Given the description of an element on the screen output the (x, y) to click on. 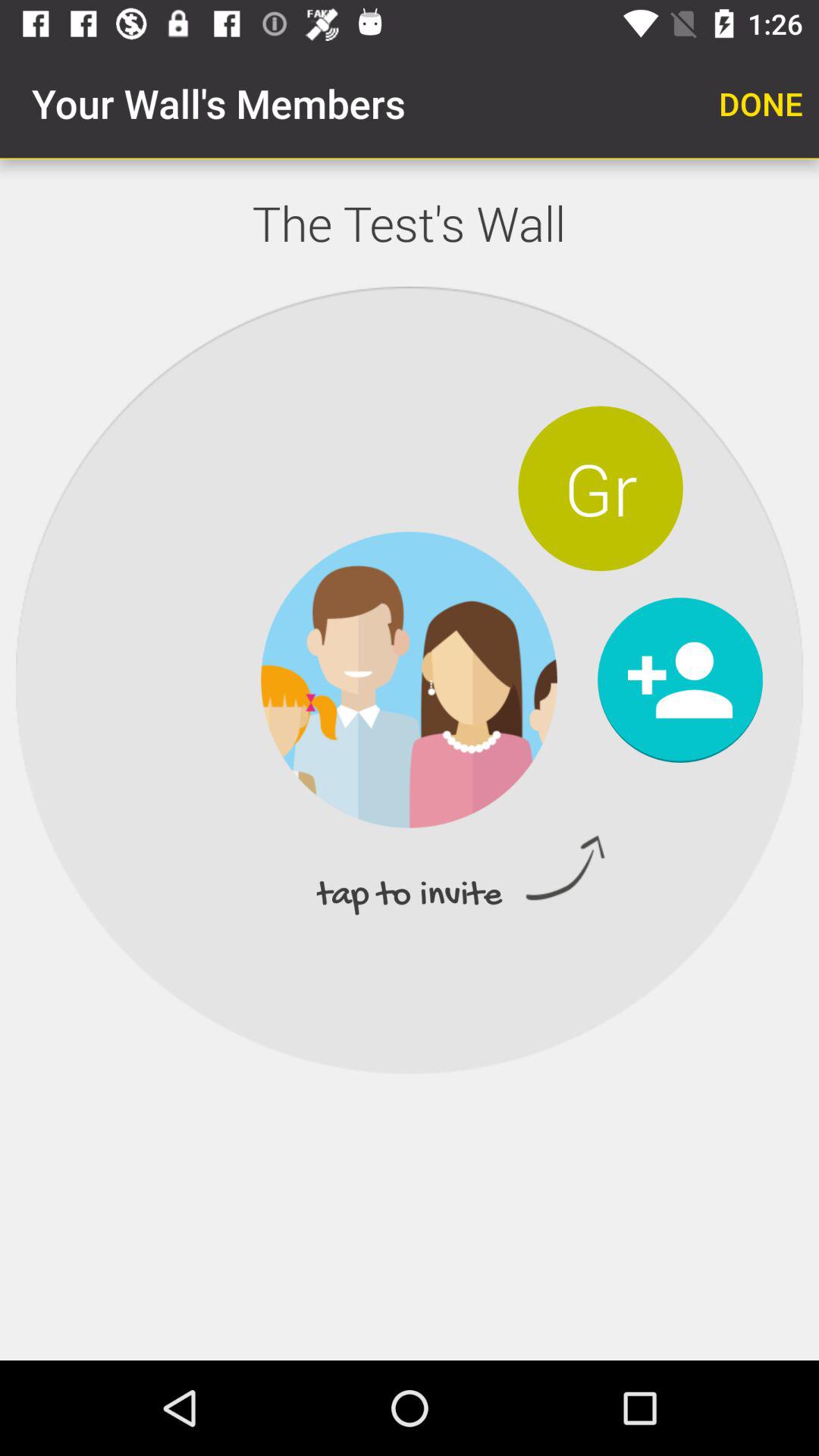
select icon to the right of the your wall s app (760, 103)
